Given the description of an element on the screen output the (x, y) to click on. 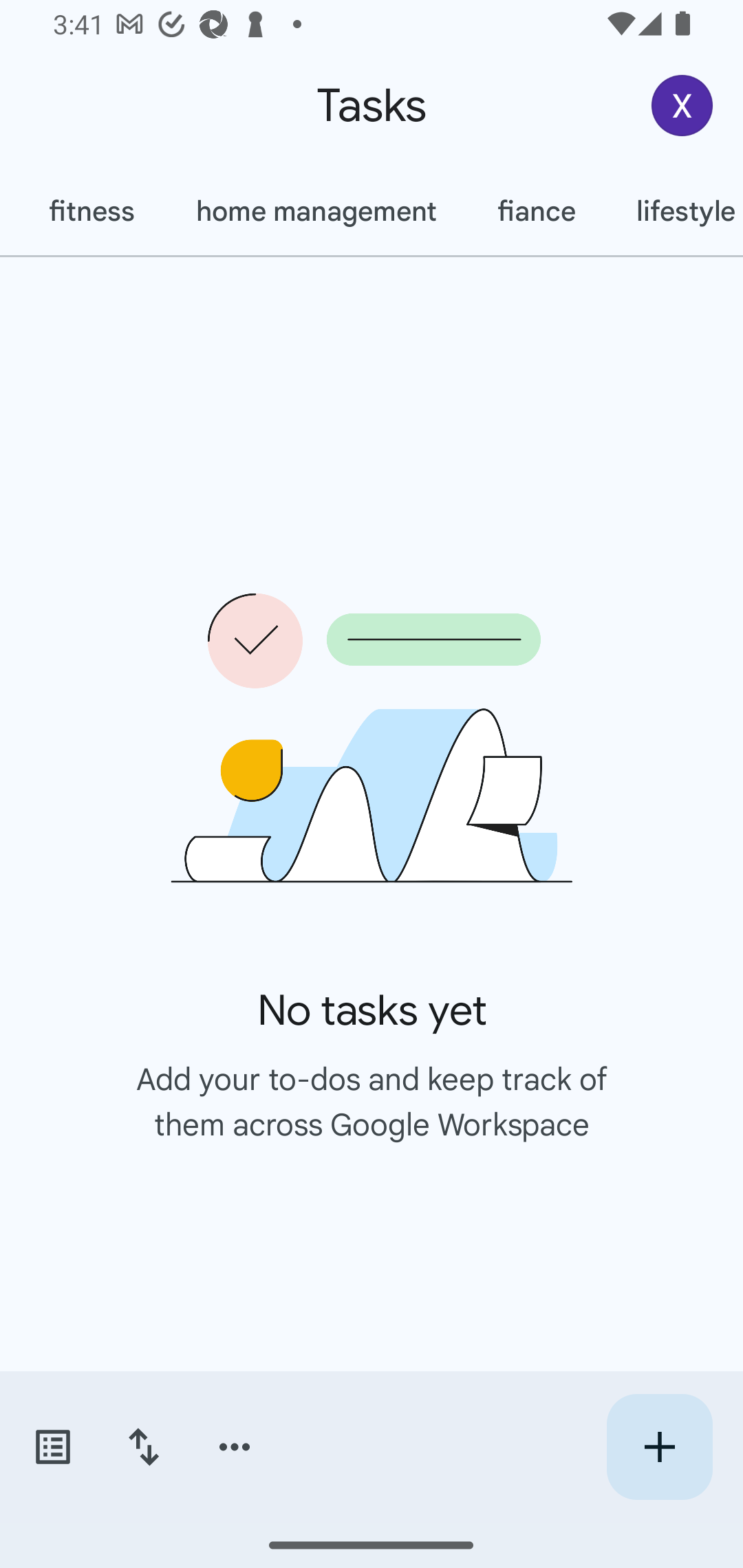
fitness (90, 211)
home management (315, 211)
fiance (535, 211)
lifestyle (674, 211)
Switch task lists (52, 1447)
Create new task (659, 1446)
Change sort order (143, 1446)
More options (234, 1446)
